Given the description of an element on the screen output the (x, y) to click on. 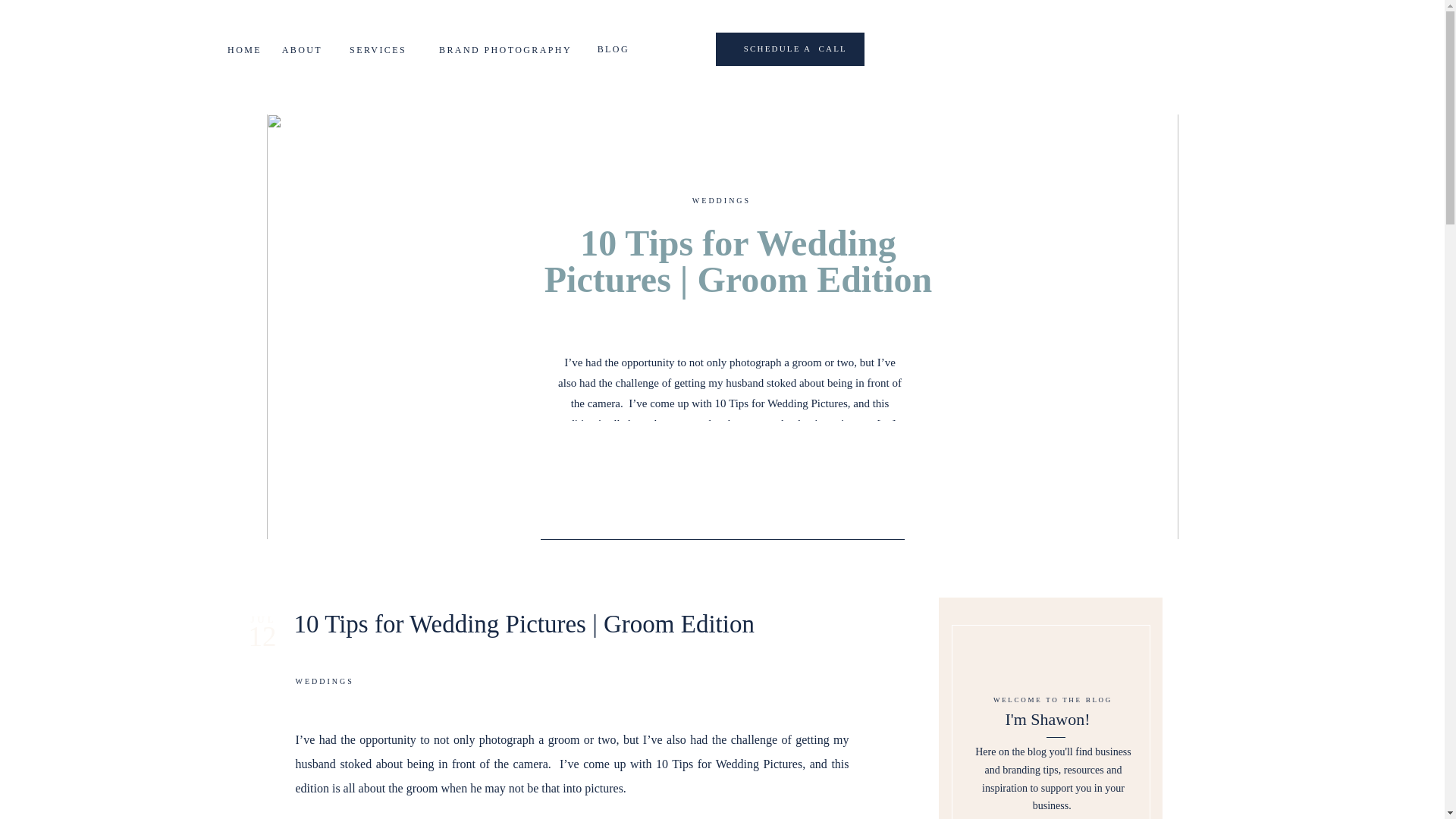
HOME (237, 49)
WELCOME TO THE BLOG (1053, 699)
SCHEDULE A  CALL (756, 48)
BRAND PHOTOGRAPHY (496, 49)
ABOUT (297, 49)
SERVICES (374, 49)
BLOG (609, 48)
I'm Shawon! (1046, 721)
WEDDINGS (722, 200)
